Given the description of an element on the screen output the (x, y) to click on. 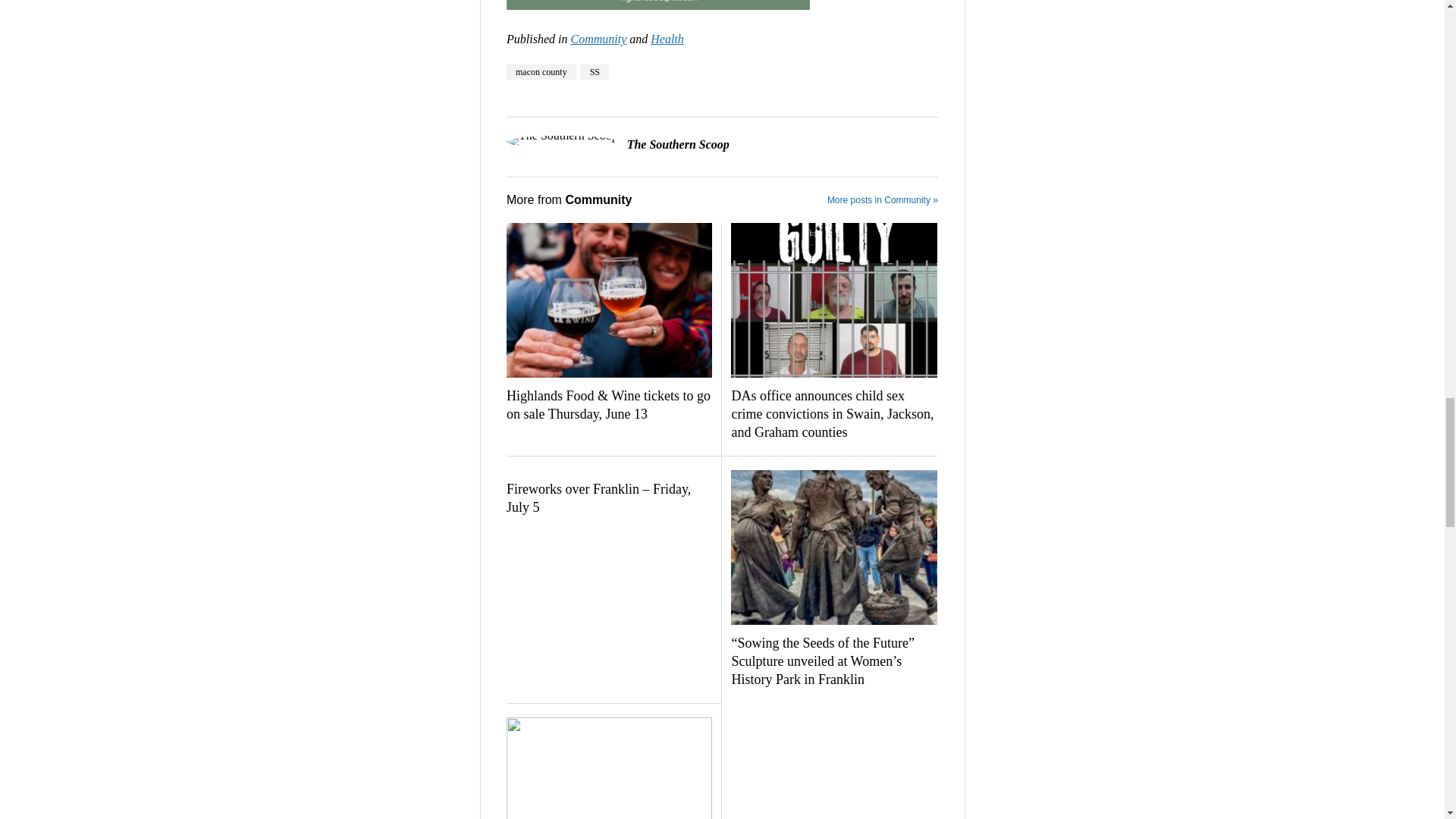
SS (594, 71)
Health (667, 38)
Community (598, 38)
macon county (541, 71)
View all posts in Community (598, 38)
View all posts tagged macon county (541, 71)
View all posts tagged SS (594, 71)
View all posts in Health (667, 38)
